Given the description of an element on the screen output the (x, y) to click on. 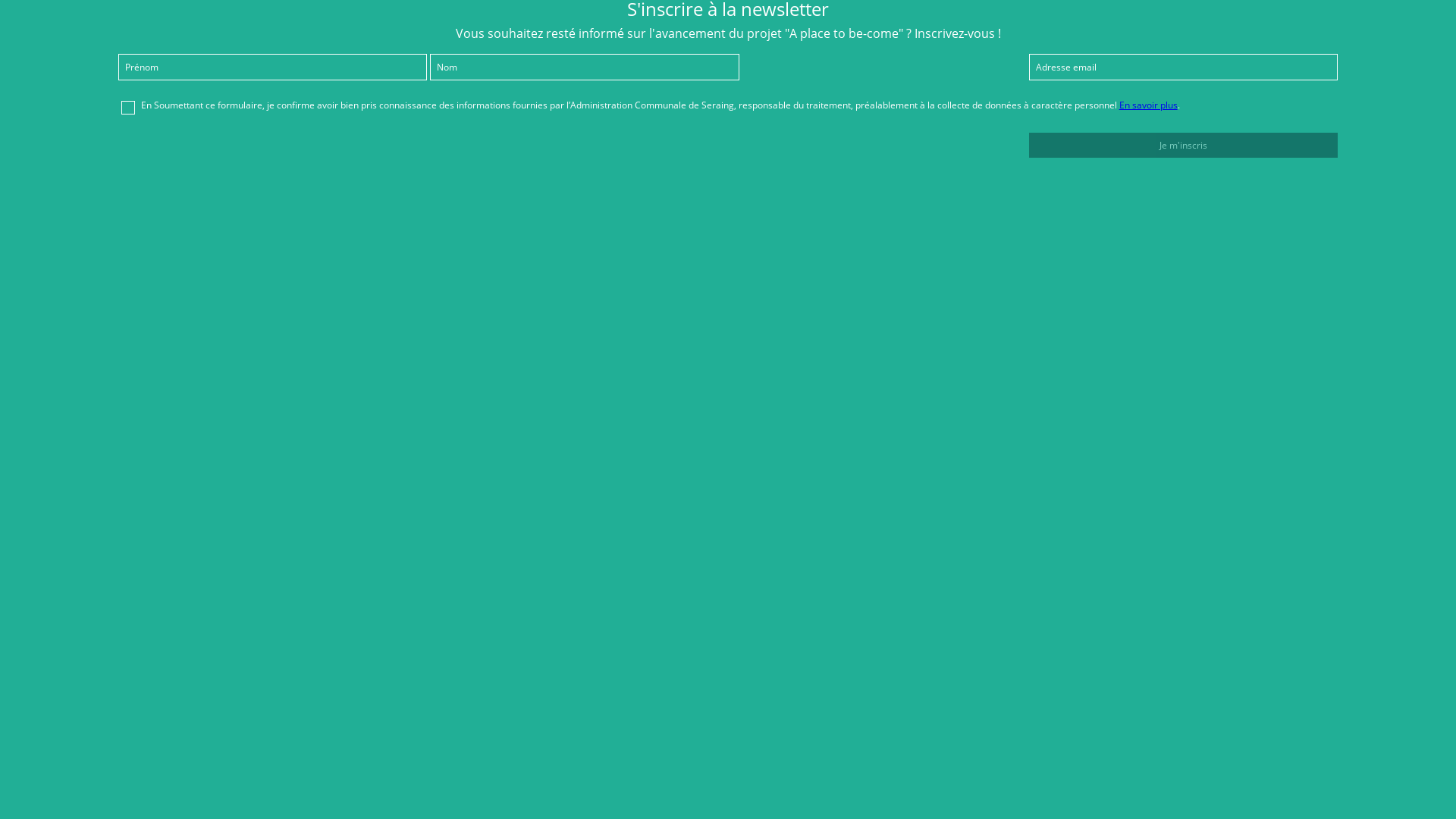
En savoir plus Element type: text (1148, 104)
Je m'inscris Element type: text (1183, 144)
